Given the description of an element on the screen output the (x, y) to click on. 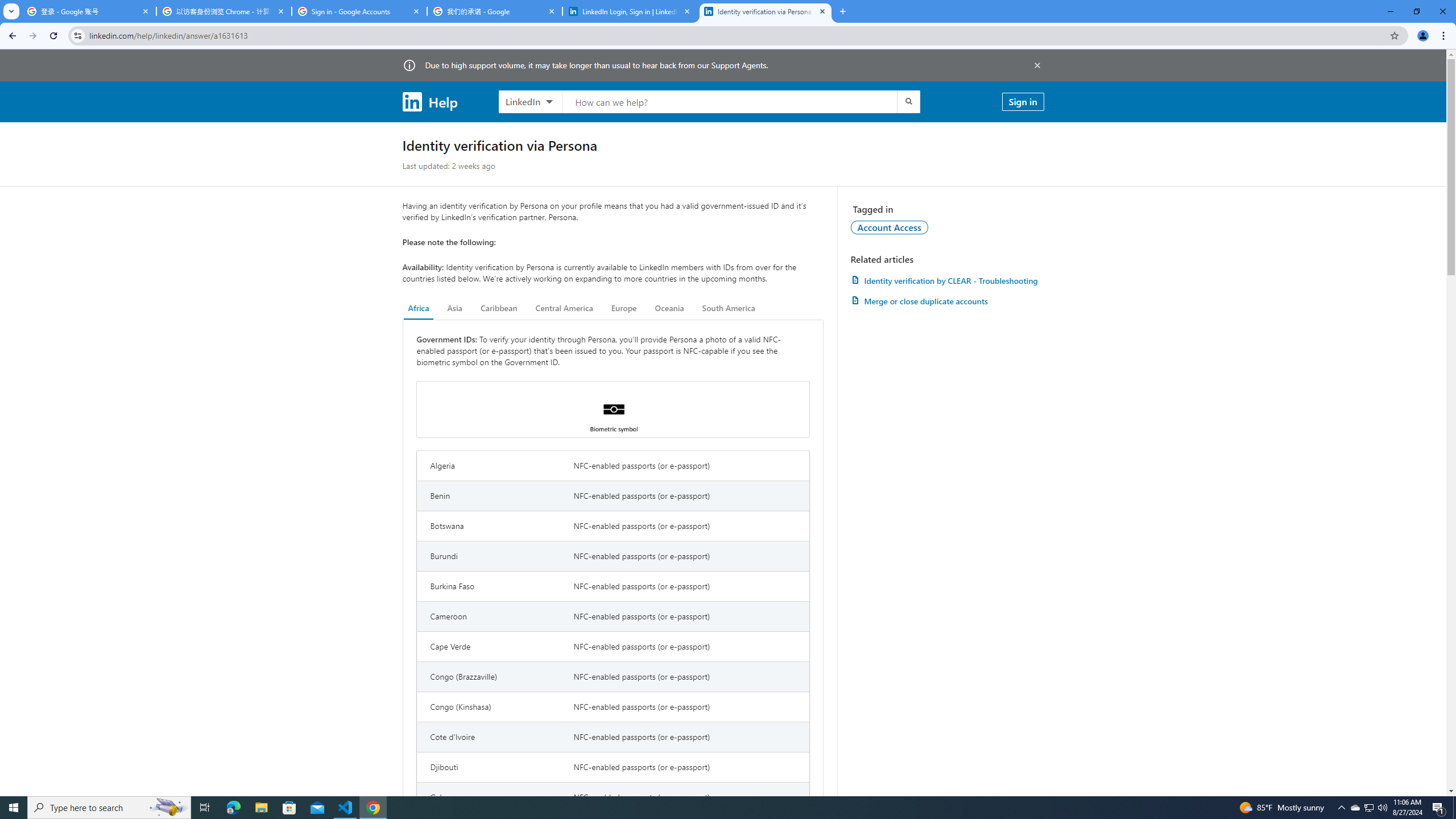
LinkedIn Login, Sign in | LinkedIn (630, 11)
Europe (623, 308)
Africa (418, 308)
Asia (454, 308)
AutomationID: article-link-a1457505 (946, 280)
Sign in - Google Accounts (359, 11)
Caribbean (499, 308)
AutomationID: article-link-a1337200 (946, 300)
LinkedIn products to search, LinkedIn selected (530, 101)
